Given the description of an element on the screen output the (x, y) to click on. 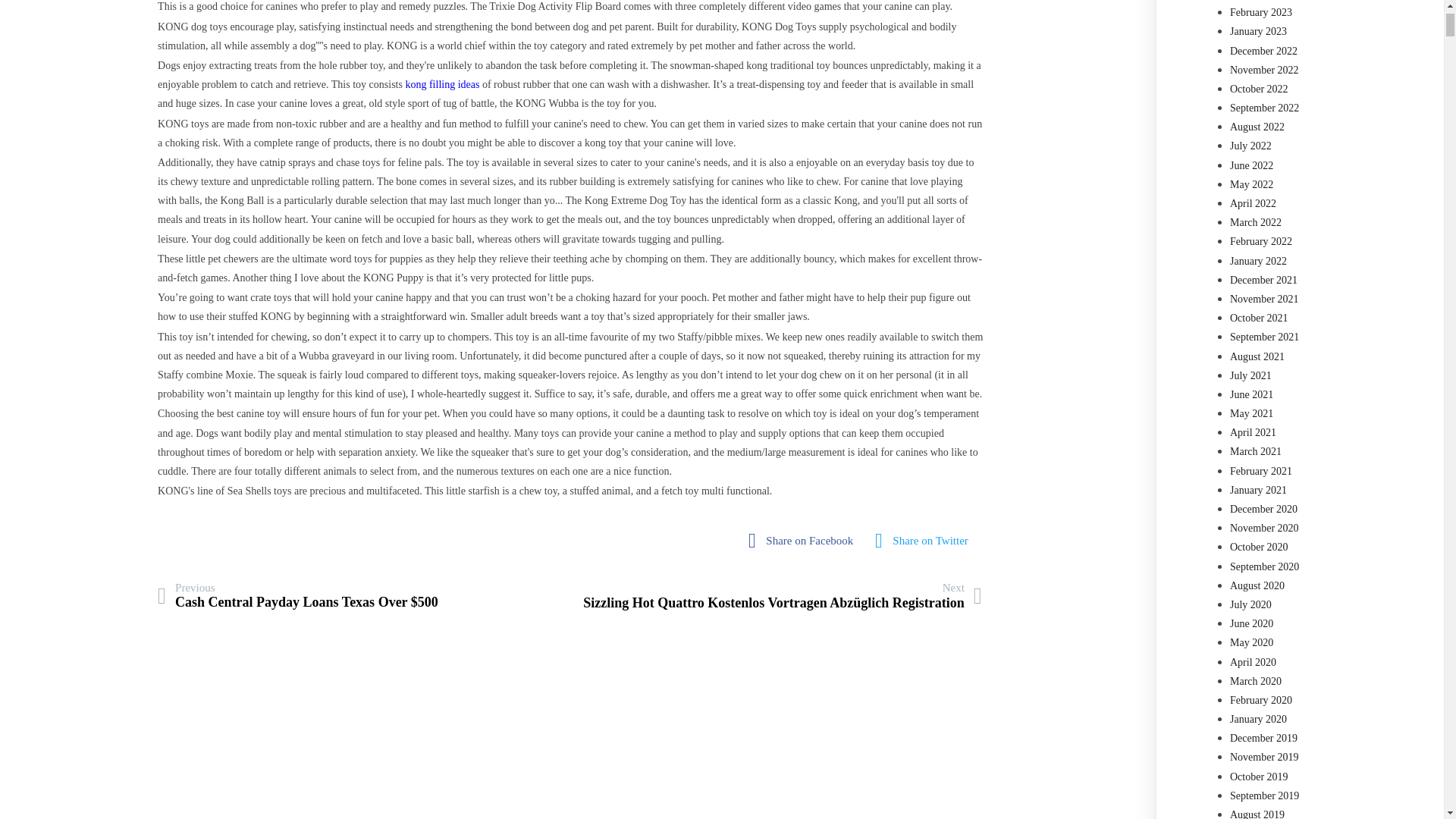
February 2023 (1261, 12)
October 2022 (1259, 89)
fab fa-facebook-square (804, 540)
fab fa-twitter-square (925, 540)
kong filling ideas (441, 84)
Share on Twitter (925, 540)
January 2023 (1258, 30)
December 2022 (1263, 50)
November 2022 (1264, 70)
Share on Facebook (804, 540)
